Given the description of an element on the screen output the (x, y) to click on. 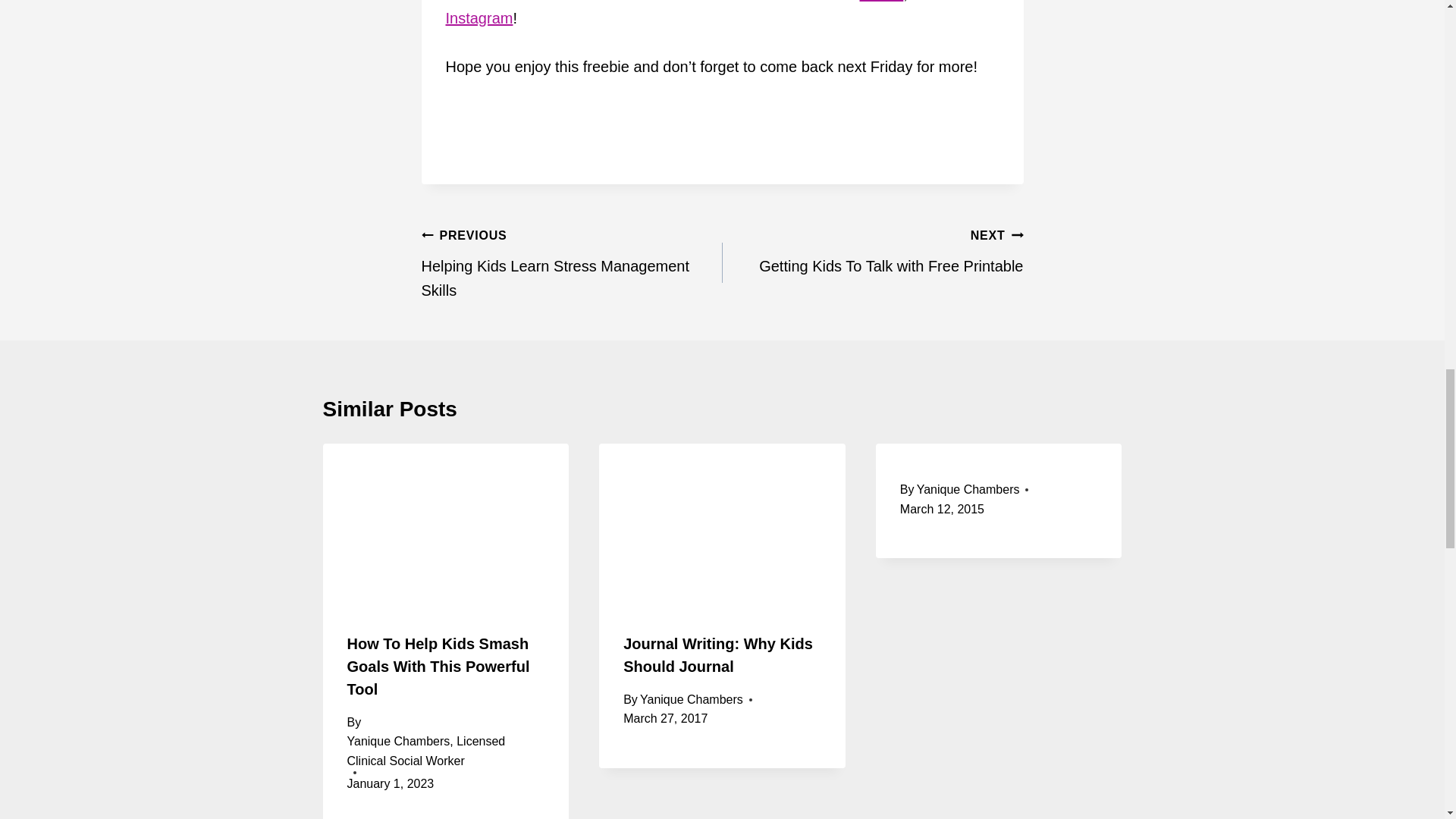
Twitter (872, 249)
Instagram (572, 261)
